Given the description of an element on the screen output the (x, y) to click on. 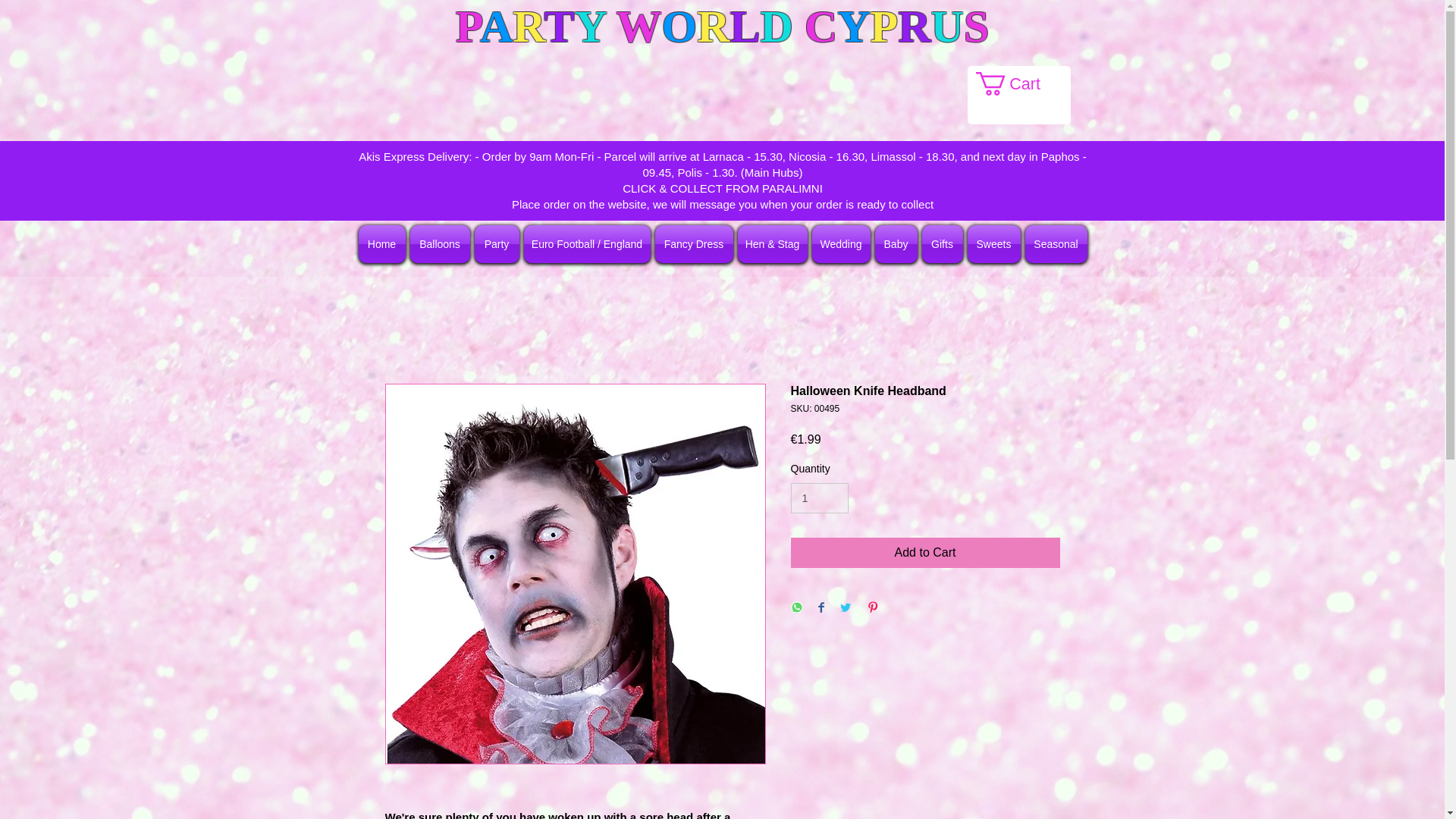
1 (818, 498)
PARTY WORLD CYPRUS (722, 26)
Balloons (439, 243)
Cart (1020, 83)
Home (382, 243)
Party (496, 243)
Cart (1020, 83)
